Given the description of an element on the screen output the (x, y) to click on. 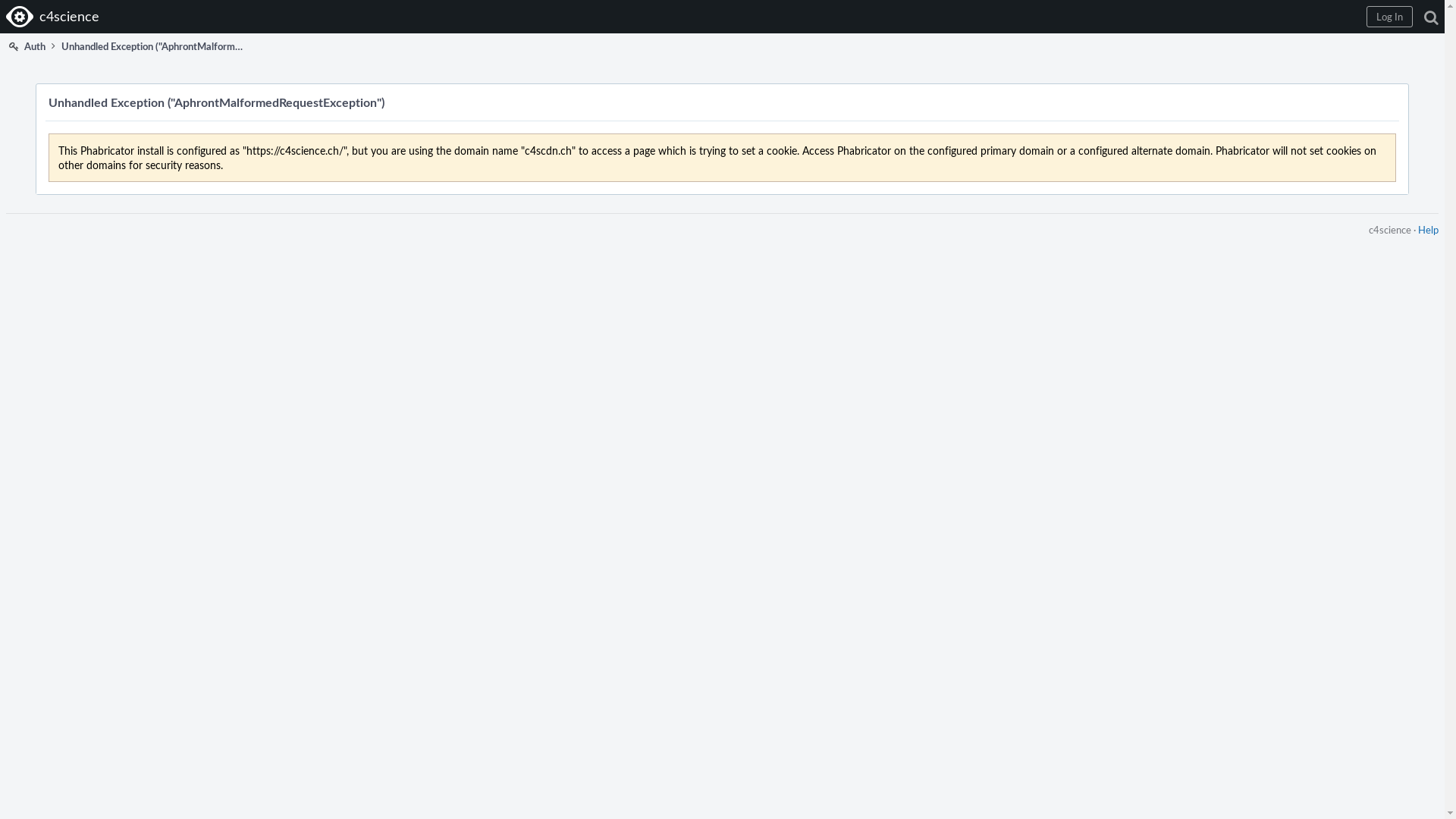
Log In Element type: text (1389, 16)
c4science Element type: text (54, 16)
Auth Element type: text (25, 46)
Help Element type: text (1428, 229)
